Given the description of an element on the screen output the (x, y) to click on. 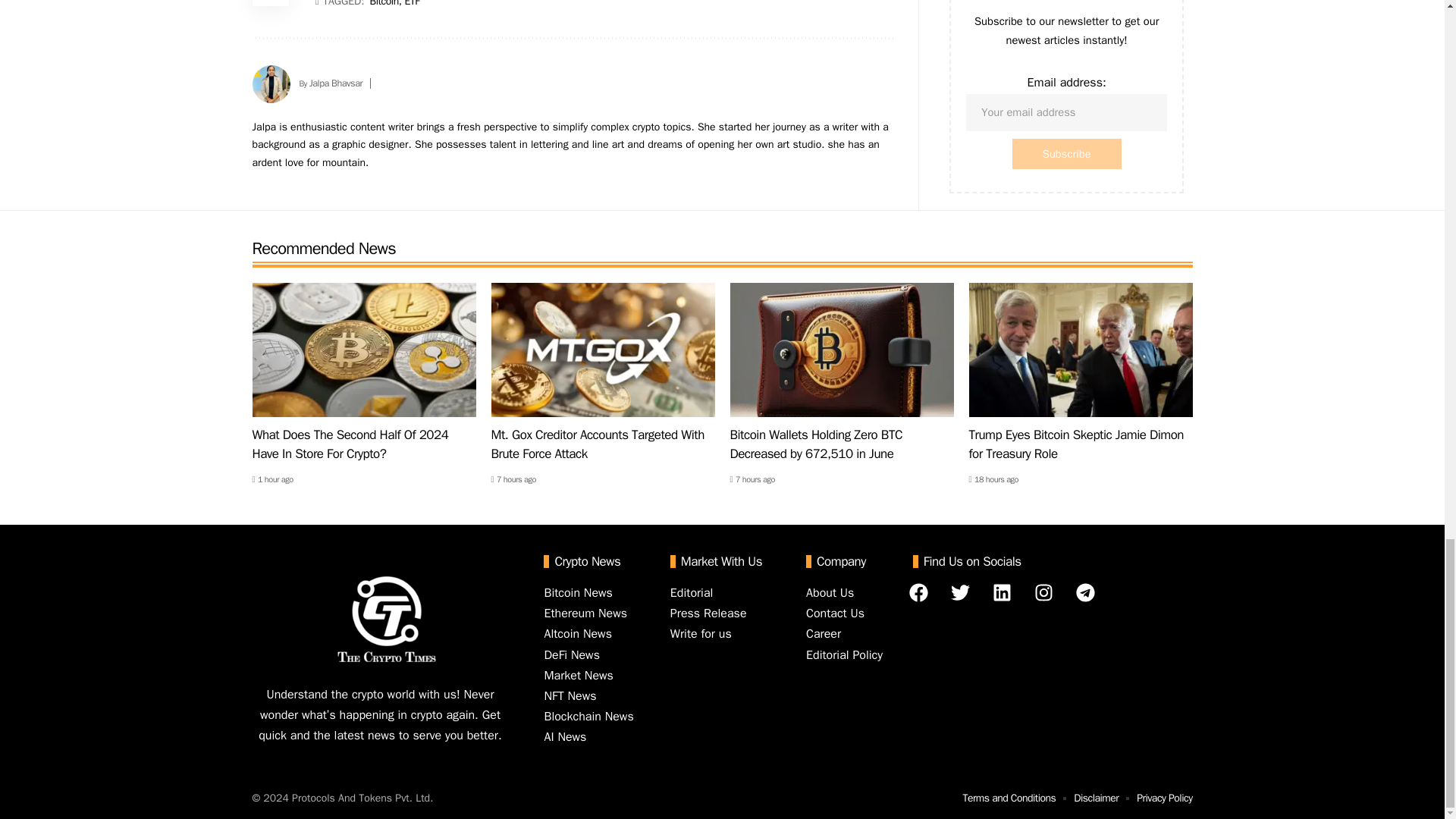
Mt. Gox Creditor Accounts Targeted With Brute Force Attack (603, 349)
What Does The Second Half Of 2024 Have In Store For Crypto? (363, 349)
Trump Eyes Bitcoin Skeptic Jamie Dimon for Treasury Role (1080, 349)
